Given the description of an element on the screen output the (x, y) to click on. 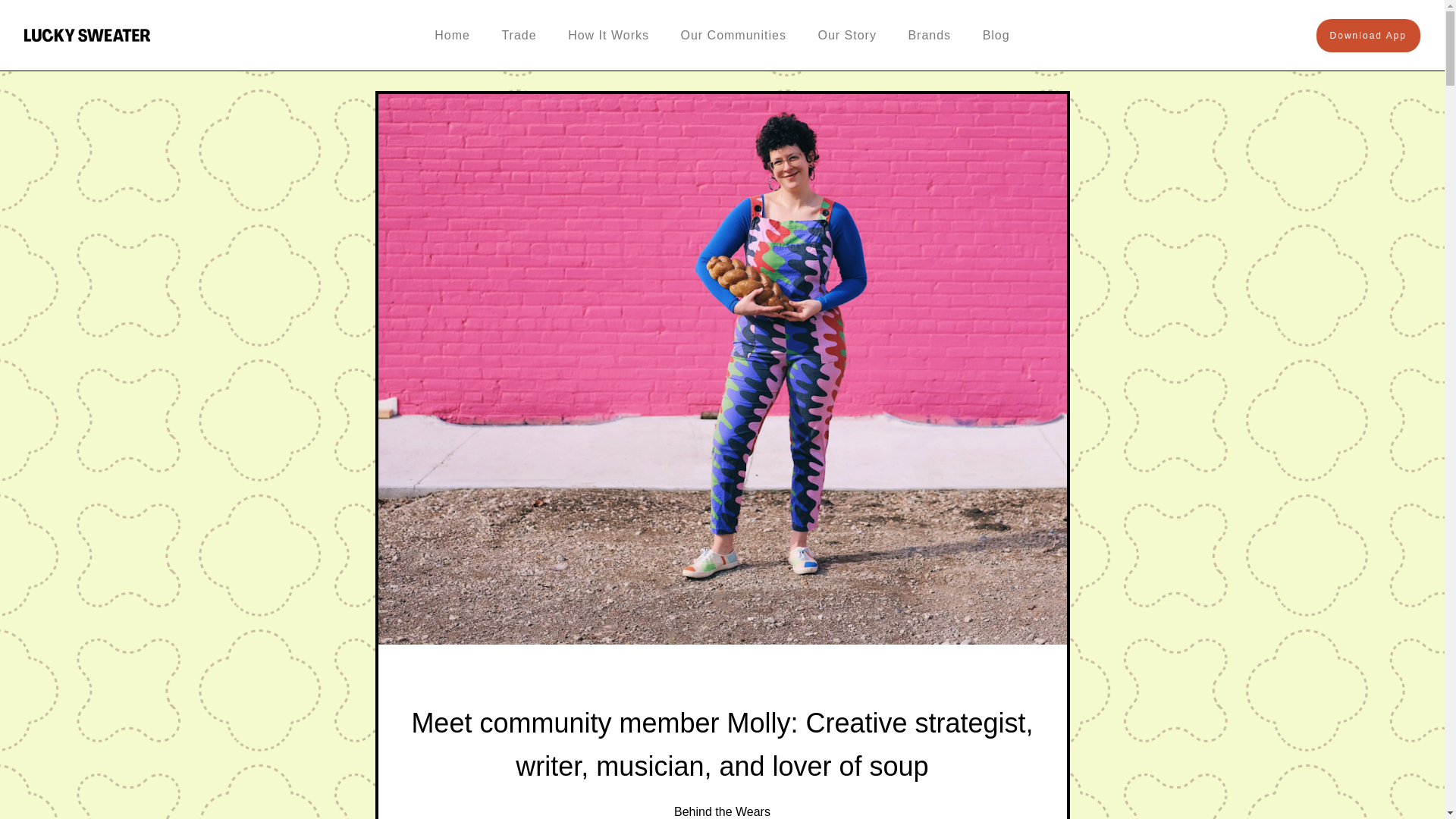
Our Story (846, 35)
Trade (518, 35)
Blog (996, 35)
Download App (1368, 34)
How It Works (608, 35)
Home (451, 35)
Brands (928, 35)
Our Communities (732, 35)
